Given the description of an element on the screen output the (x, y) to click on. 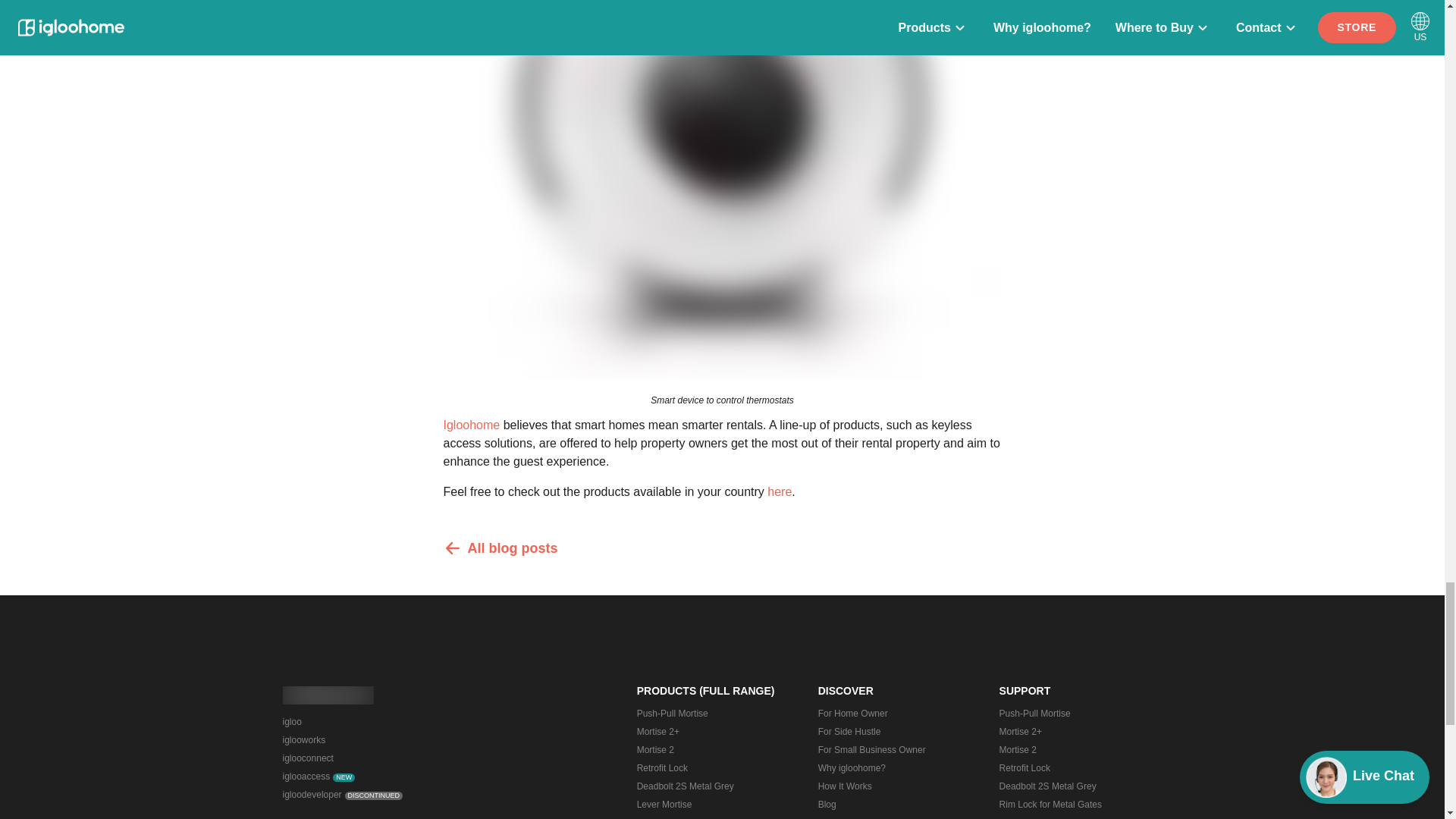
igloodeveloperDISCONTINUED (368, 794)
iglooworks (368, 740)
here (779, 491)
igloohome (327, 695)
All blog posts (721, 547)
Push-Pull Mortise (711, 713)
iglooaccessNEW (368, 776)
Igloohome (470, 424)
iglooconnect (368, 758)
igloo (368, 721)
